Given the description of an element on the screen output the (x, y) to click on. 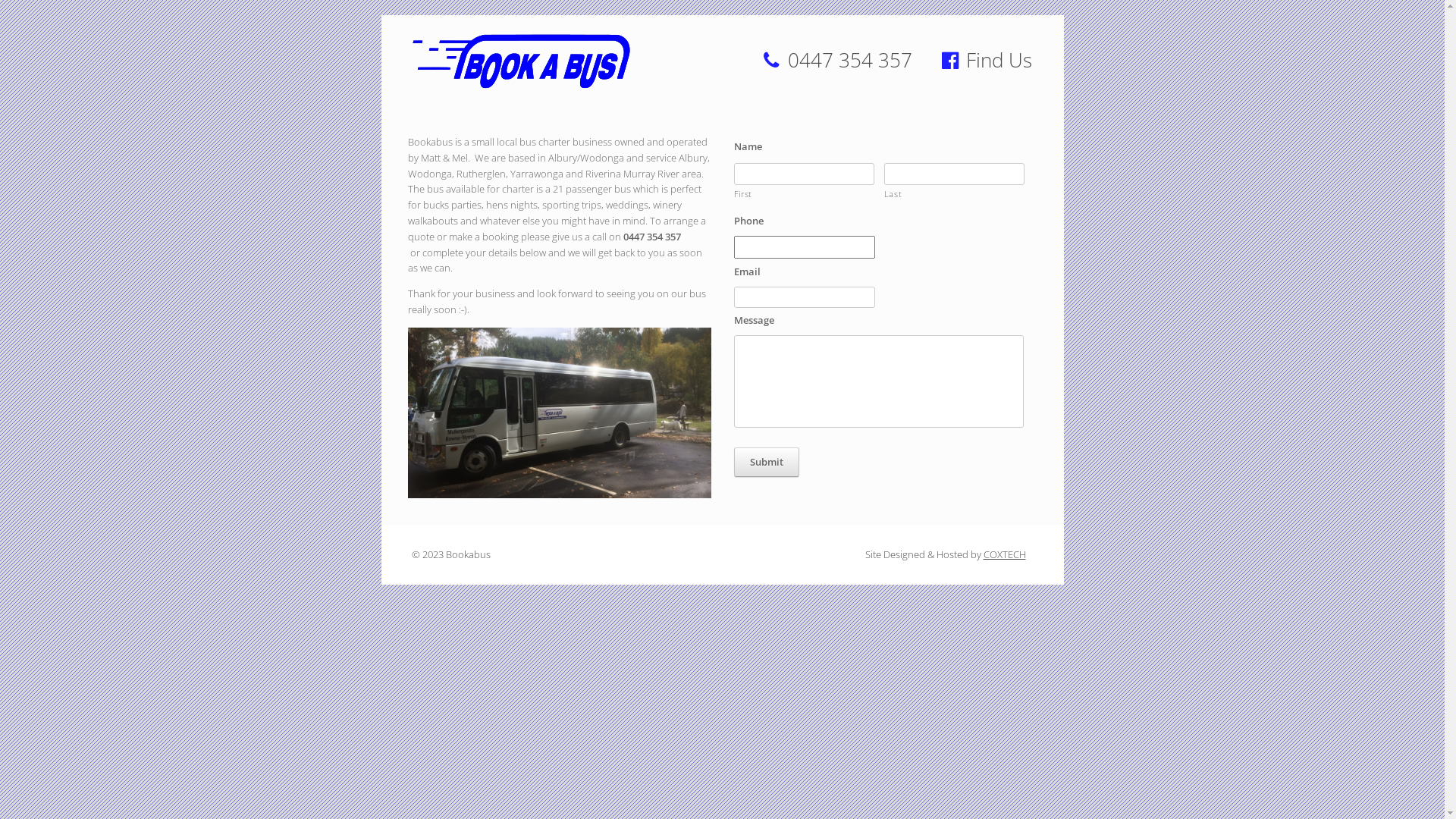
Find Us Element type: text (985, 59)
0447 354 357 Element type: text (837, 59)
Submit Element type: text (766, 461)
Bookabus Element type: hover (520, 61)
COXTECH Element type: text (1003, 554)
